Given the description of an element on the screen output the (x, y) to click on. 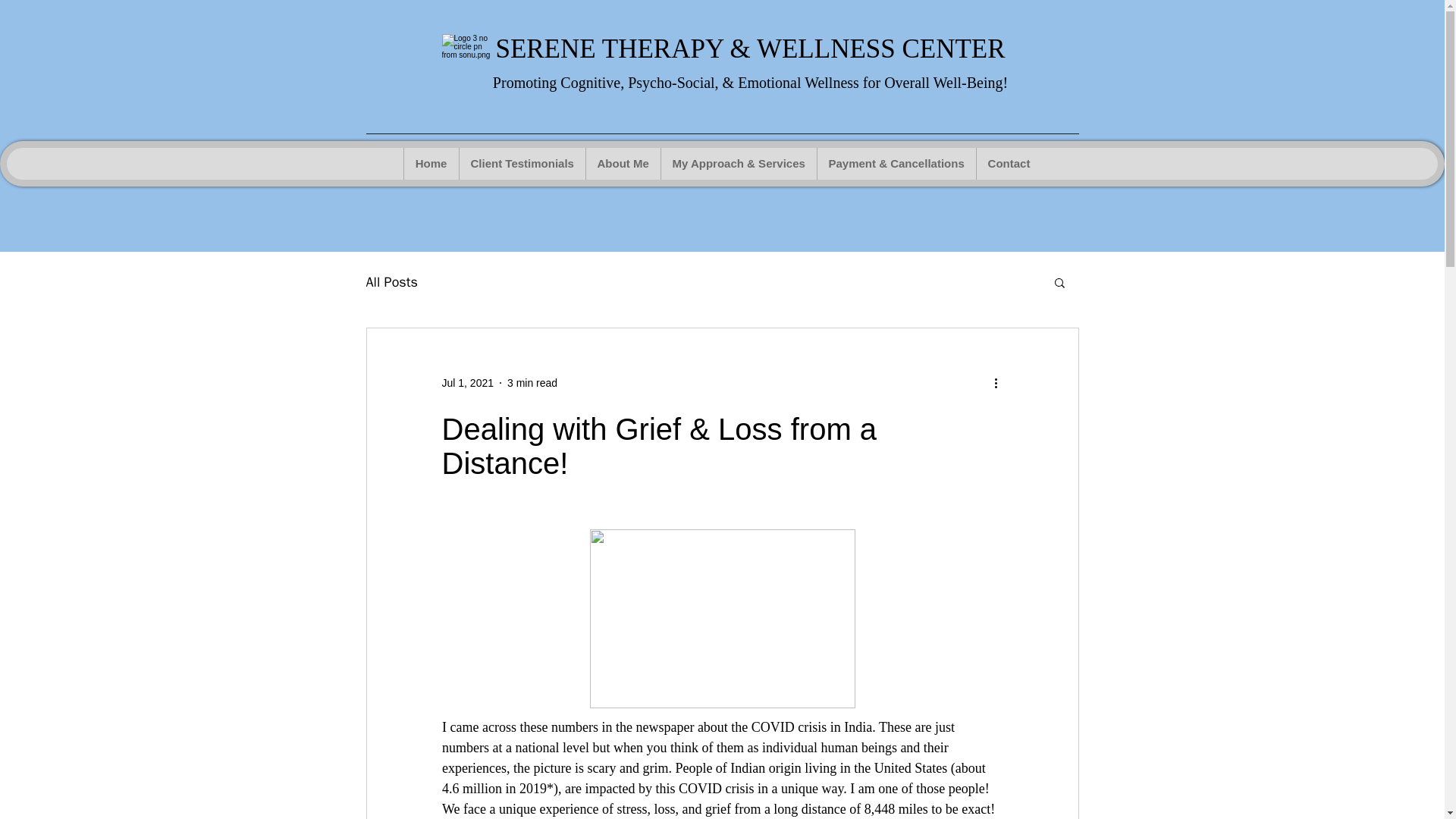
Home (430, 163)
Jul 1, 2021 (467, 381)
About Me (623, 163)
All Posts (390, 281)
3 min read (531, 381)
Client Testimonials (521, 163)
Contact (1008, 163)
